Given the description of an element on the screen output the (x, y) to click on. 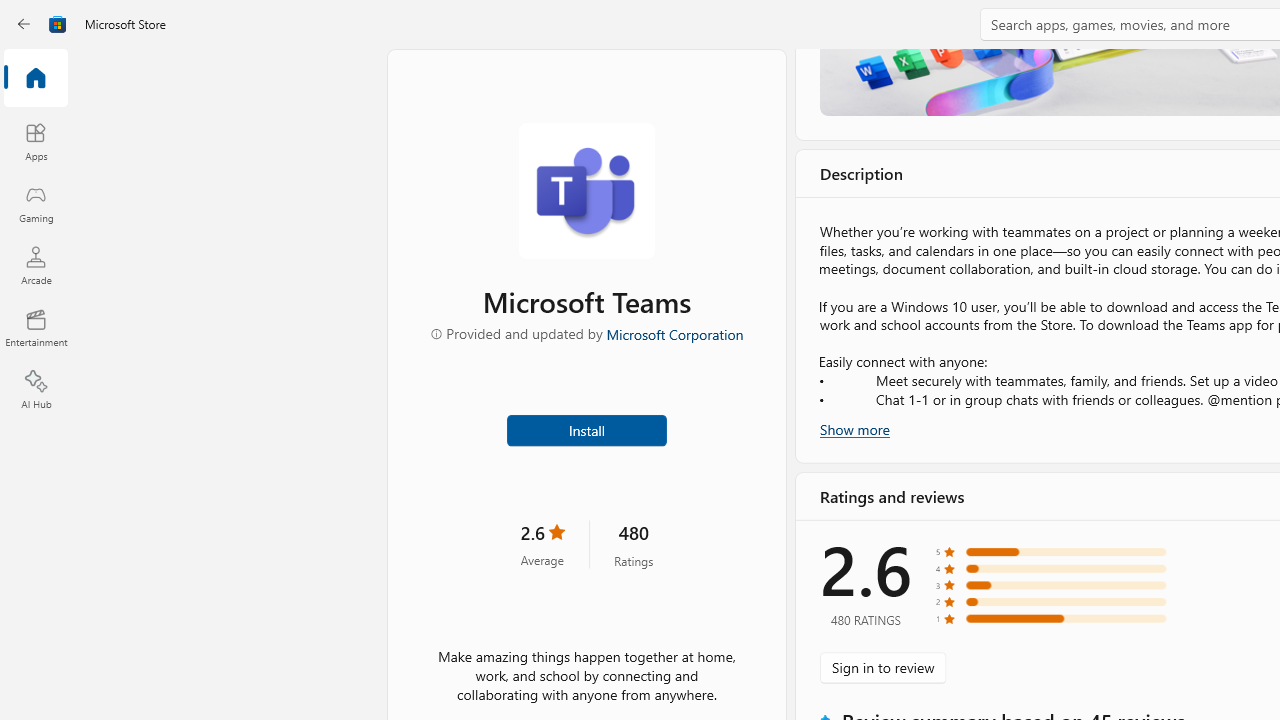
Microsoft Corporation (673, 333)
Class: Image (58, 24)
Sign in to review (882, 667)
Back (24, 24)
Entertainment (35, 327)
2.6 stars. Click to skip to ratings and reviews (542, 543)
Install (586, 428)
Show more (854, 428)
Arcade (35, 265)
Gaming (35, 203)
AI Hub (35, 390)
Home (35, 79)
Apps (35, 141)
